Given the description of an element on the screen output the (x, y) to click on. 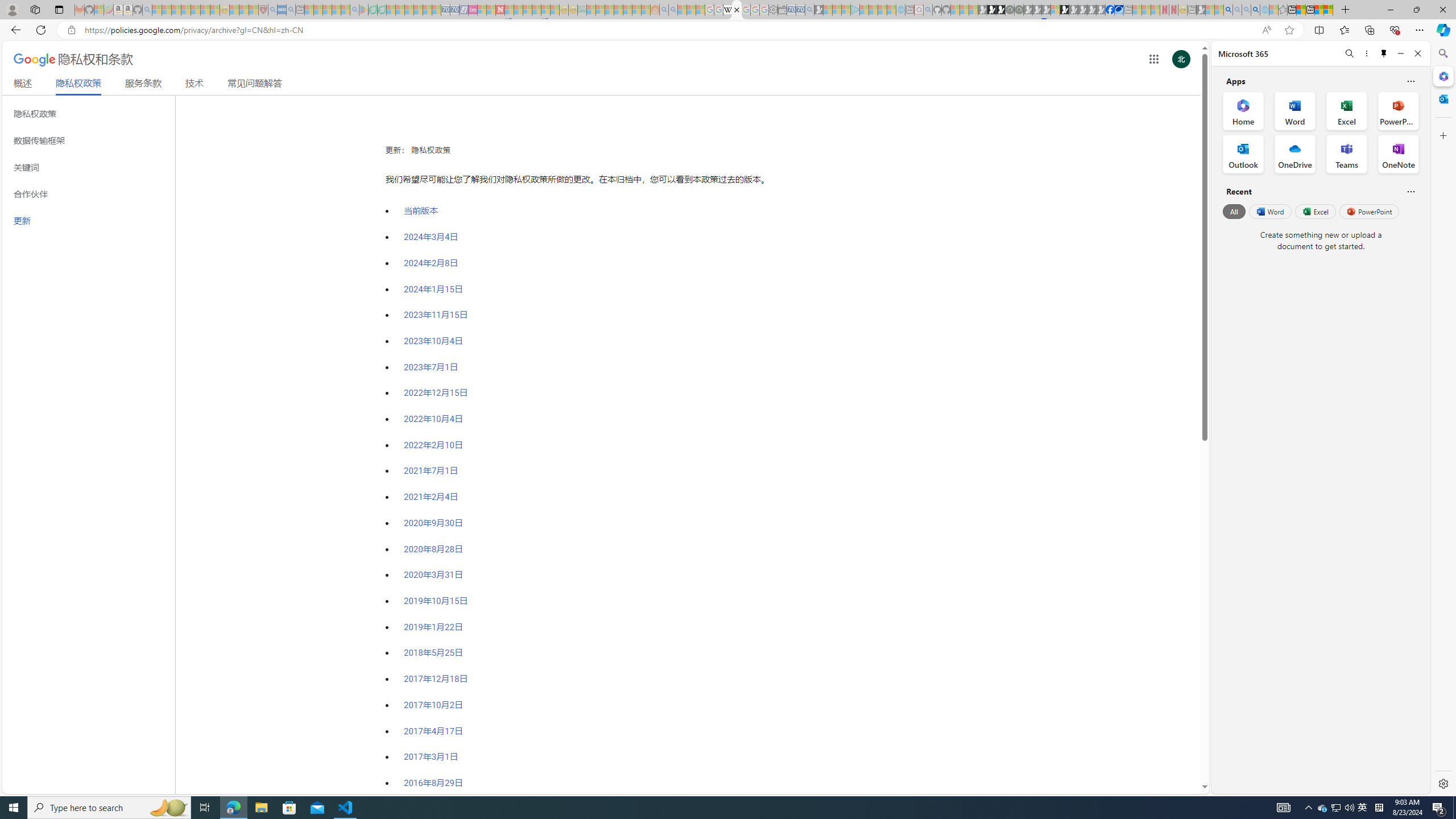
Target page - Wikipedia (726, 9)
Close Customize pane (1442, 135)
Microsoft account | Privacy - Sleeping (846, 9)
